Given the description of an element on the screen output the (x, y) to click on. 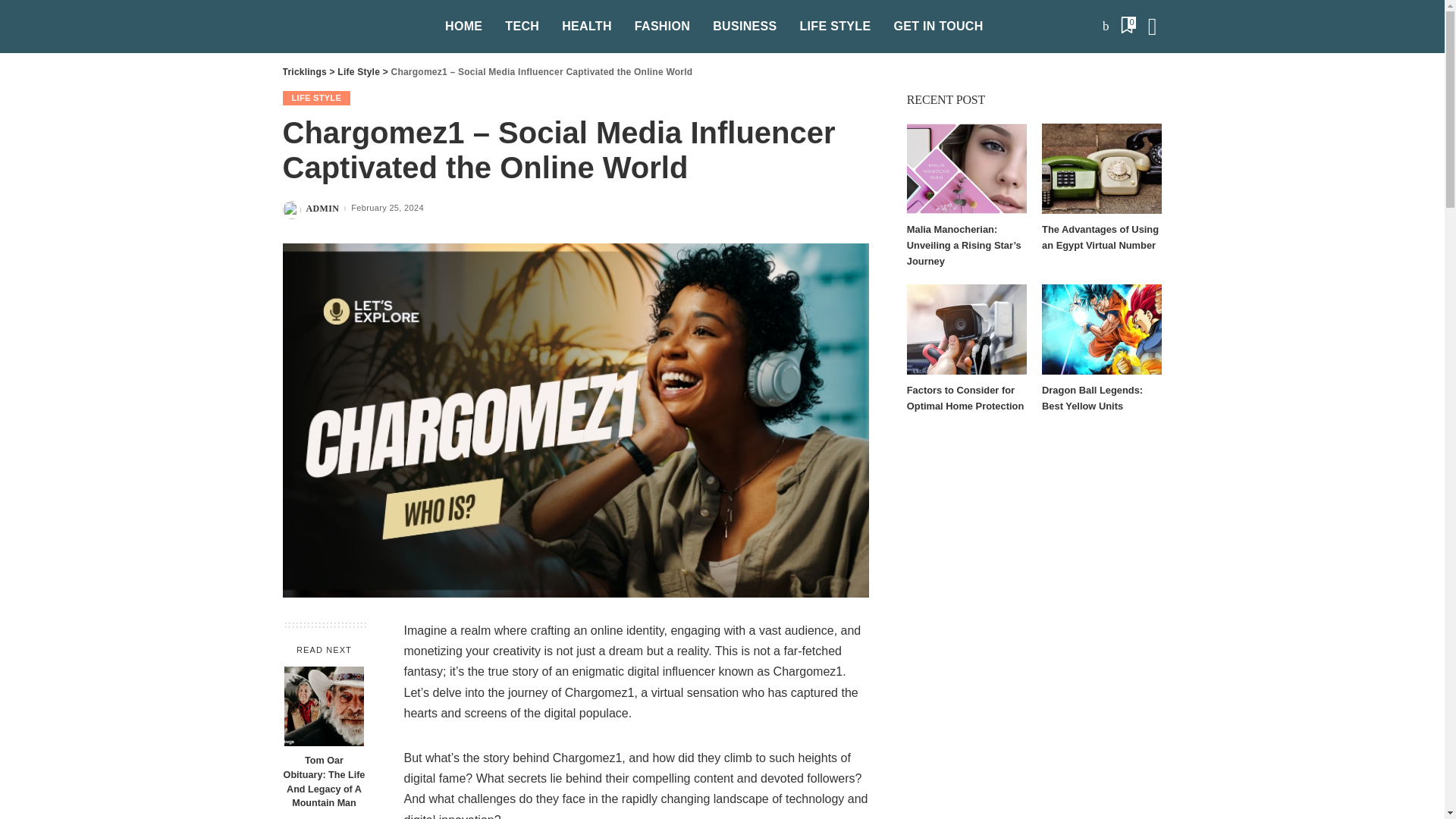
Go to the Life Style Category archives. (358, 71)
Tricklings (352, 26)
Go to Tricklings. (304, 71)
